Given the description of an element on the screen output the (x, y) to click on. 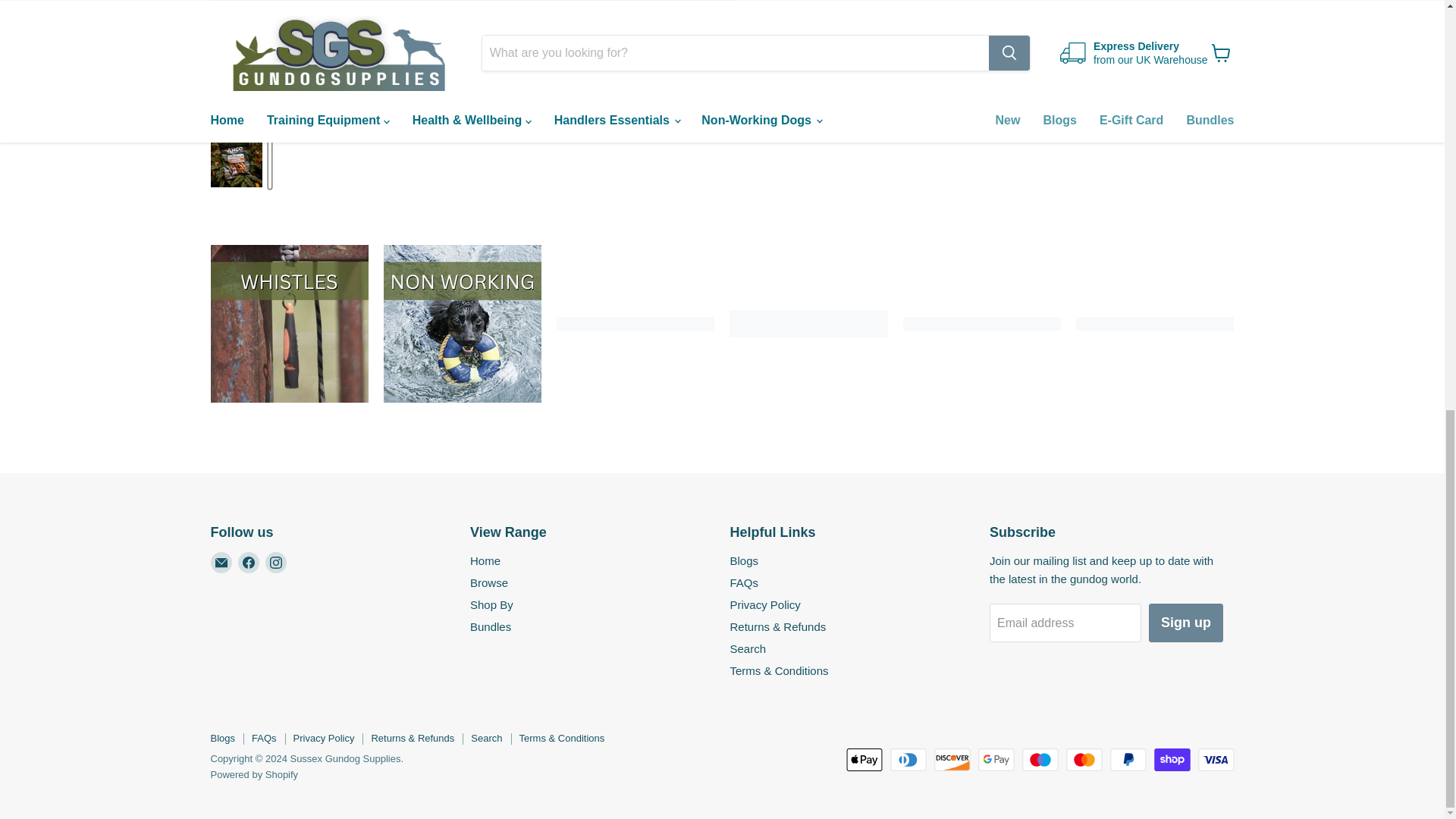
Email (221, 562)
Maestro (1040, 759)
Discover (952, 759)
Facebook (248, 562)
Apple Pay (863, 759)
Instagram (275, 562)
Google Pay (996, 759)
Mastercard (1083, 759)
Diners Club (907, 759)
